Given the description of an element on the screen output the (x, y) to click on. 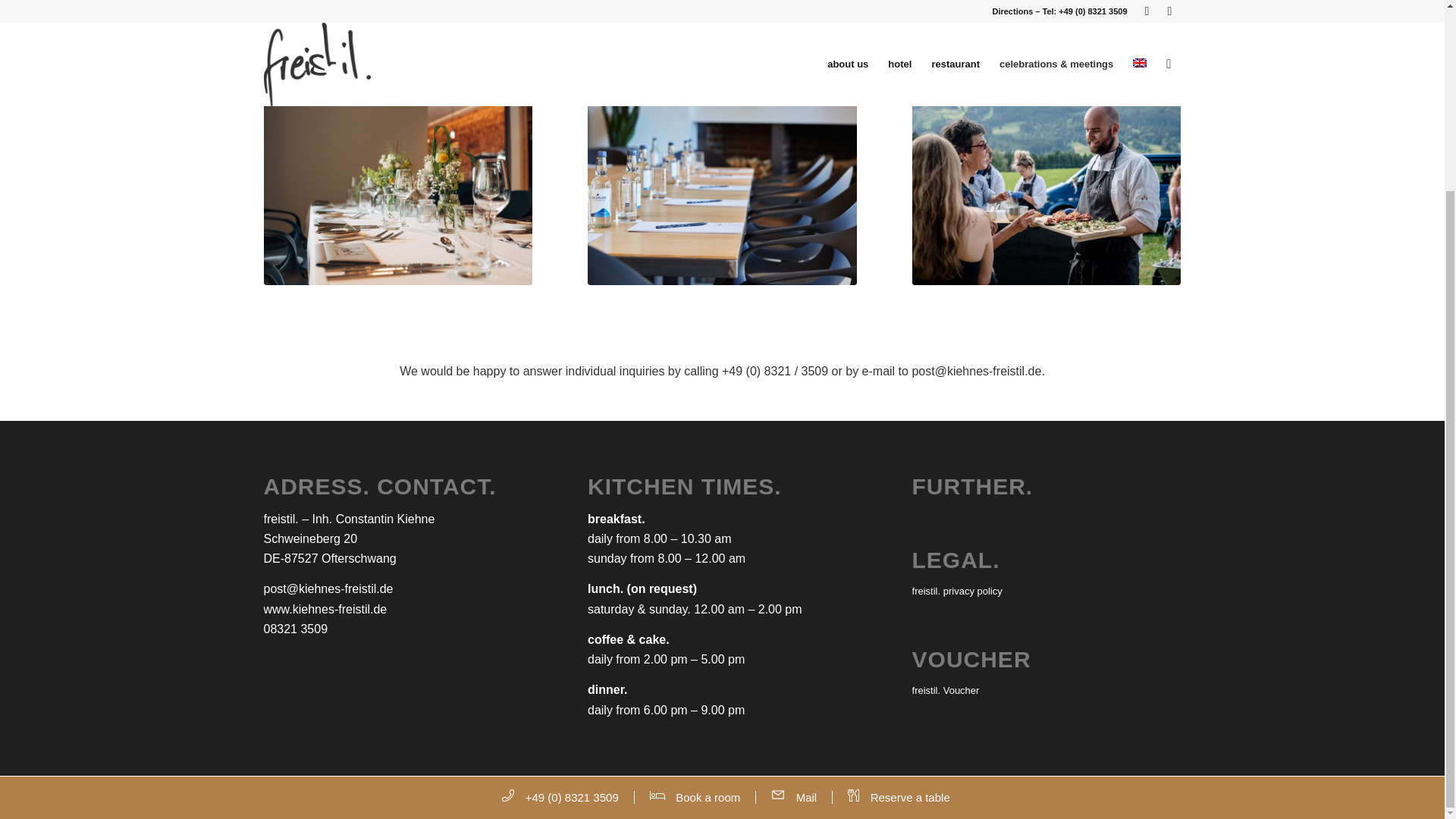
Mail (802, 558)
08321 3509 (296, 628)
Book a room (703, 558)
Reserve a table (906, 558)
freistil. privacy policy (1046, 591)
freistil. Voucher (1046, 691)
